Given the description of an element on the screen output the (x, y) to click on. 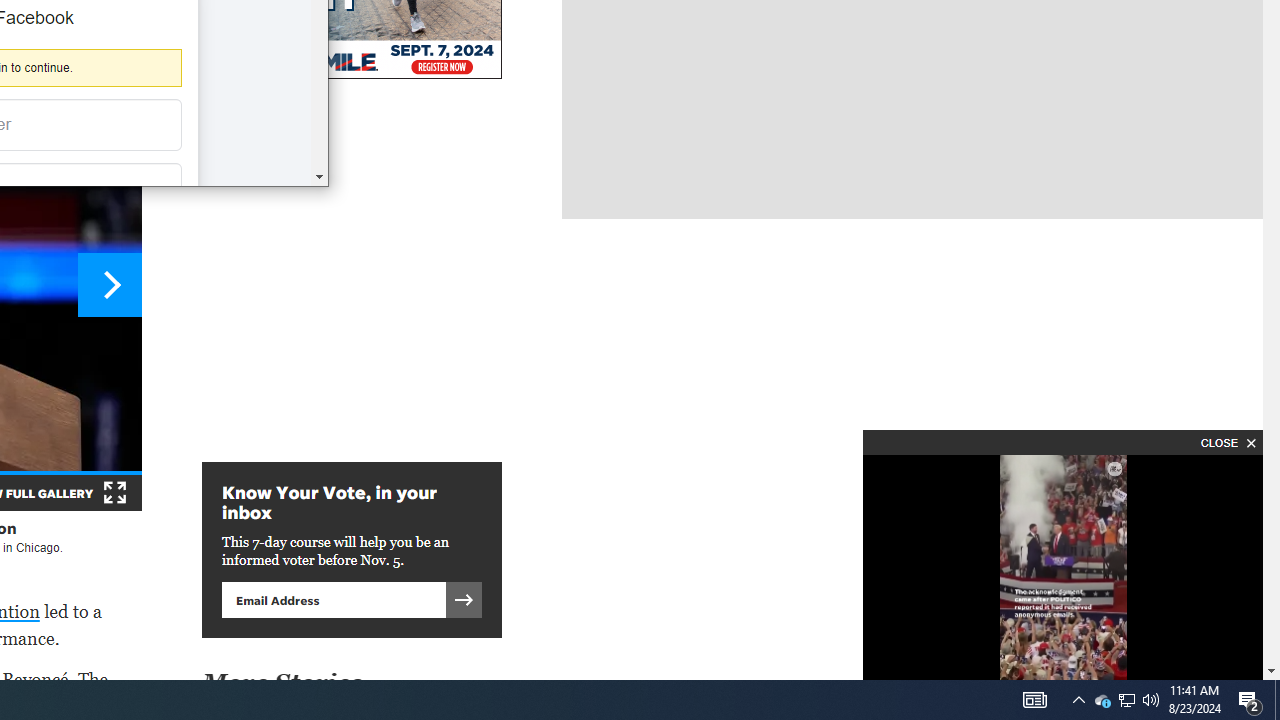
Show desktop (1126, 699)
Q2790: 100% (1277, 699)
Close autoplay video player (1151, 699)
Action Center, 2 new notifications (1226, 442)
Submit to sign up for newsletter (1250, 699)
User Promoted Notification Area (1102, 699)
Notification Chevron (463, 599)
AutomationID: 4105 (1126, 699)
Email address (1078, 699)
